Given the description of an element on the screen output the (x, y) to click on. 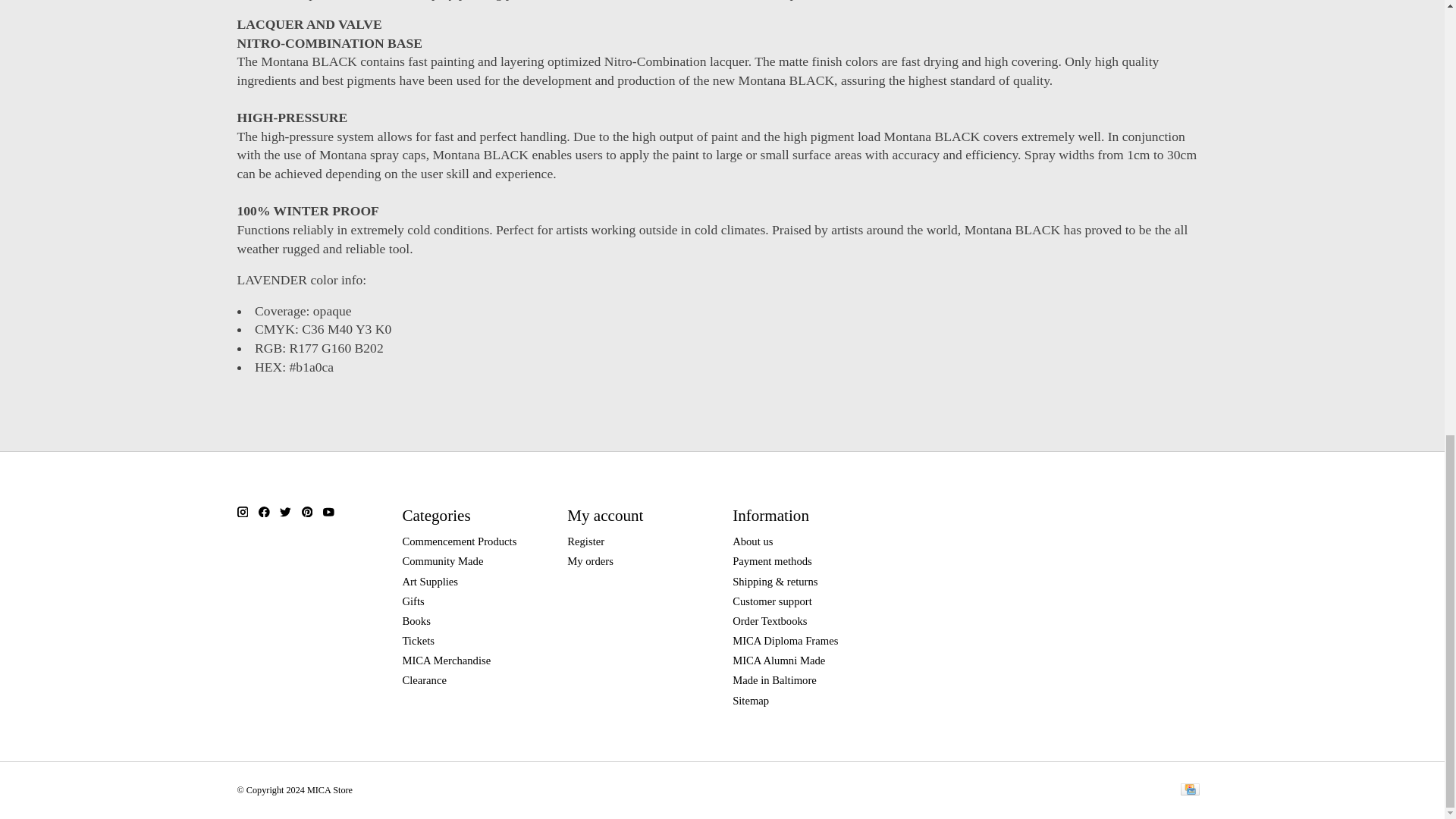
About us (752, 541)
Order Textbooks (769, 621)
Made in Baltimore (774, 680)
Credit Card (1188, 790)
MICA Diploma Frames (785, 640)
Sitemap (750, 700)
Customer support (772, 601)
Payment methods (772, 561)
My orders (589, 561)
Register (585, 541)
MICA Alumni Made (778, 660)
